Given the description of an element on the screen output the (x, y) to click on. 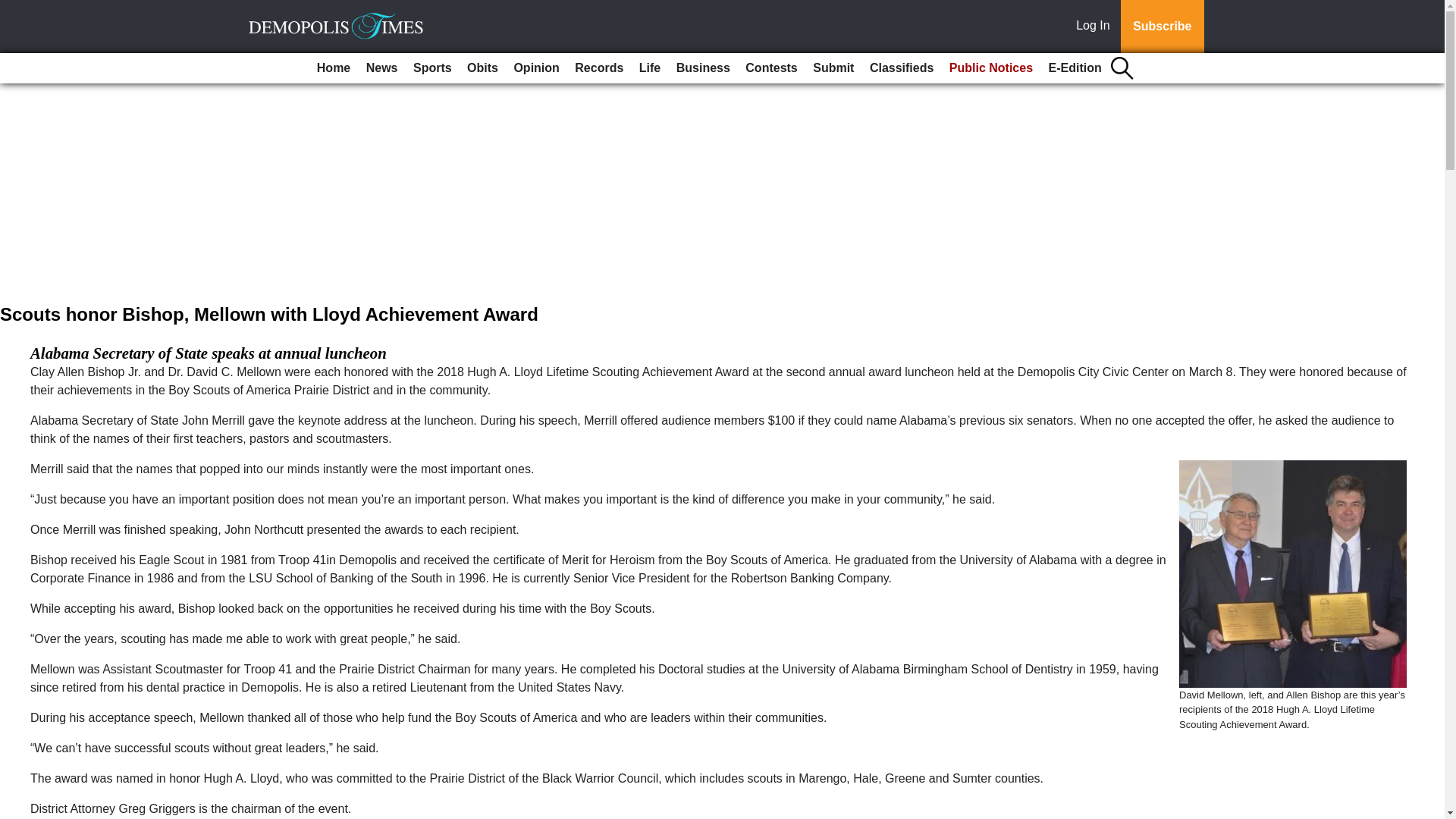
Log In (1095, 26)
Public Notices (991, 68)
Records (598, 68)
News (381, 68)
Home (333, 68)
E-Edition (1075, 68)
Subscribe (1162, 26)
Obits (482, 68)
Life (649, 68)
Go (13, 9)
Business (702, 68)
Classifieds (901, 68)
Sports (432, 68)
Contests (771, 68)
Submit (833, 68)
